Given the description of an element on the screen output the (x, y) to click on. 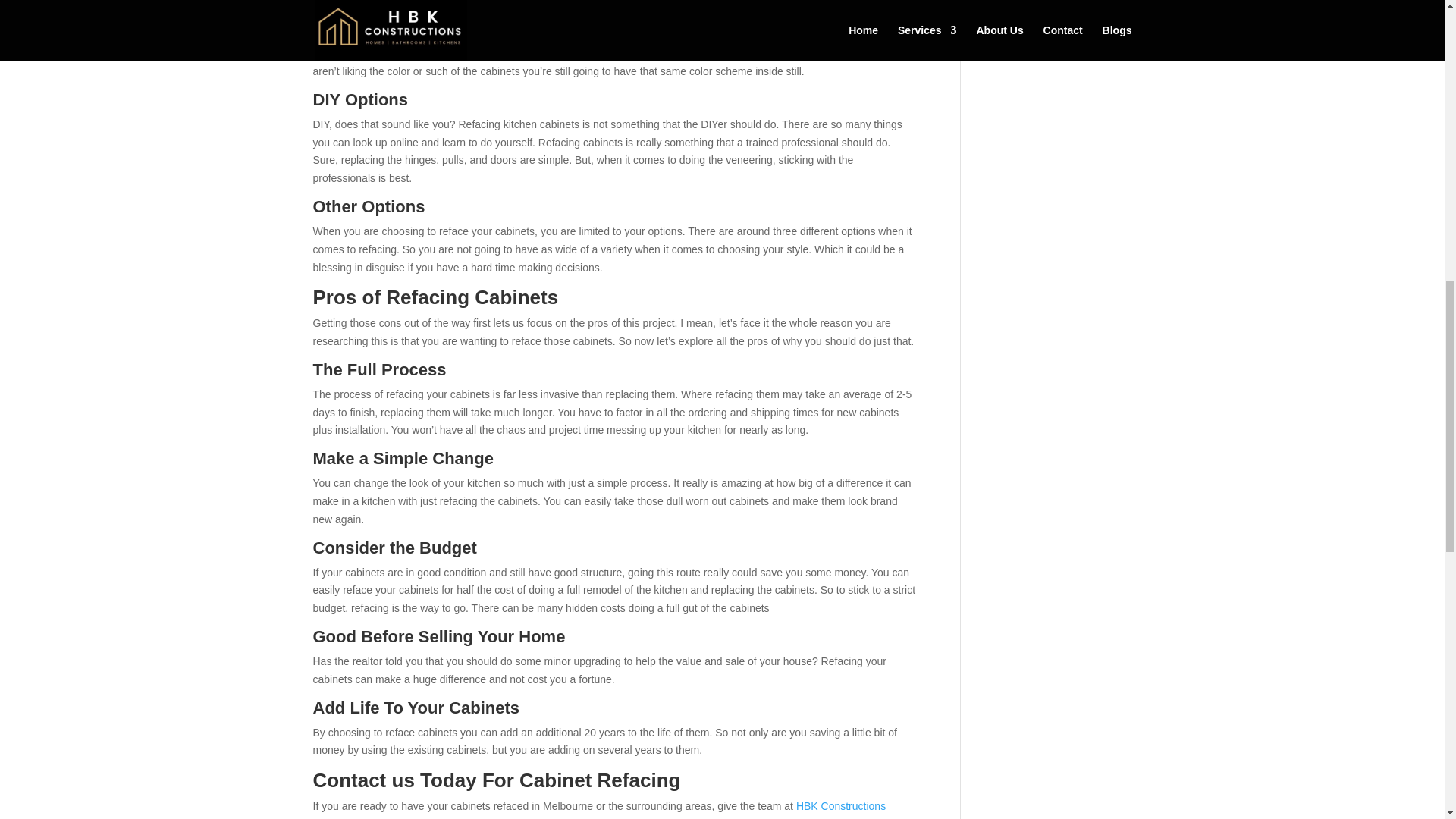
HBK Constructions (840, 806)
